Given the description of an element on the screen output the (x, y) to click on. 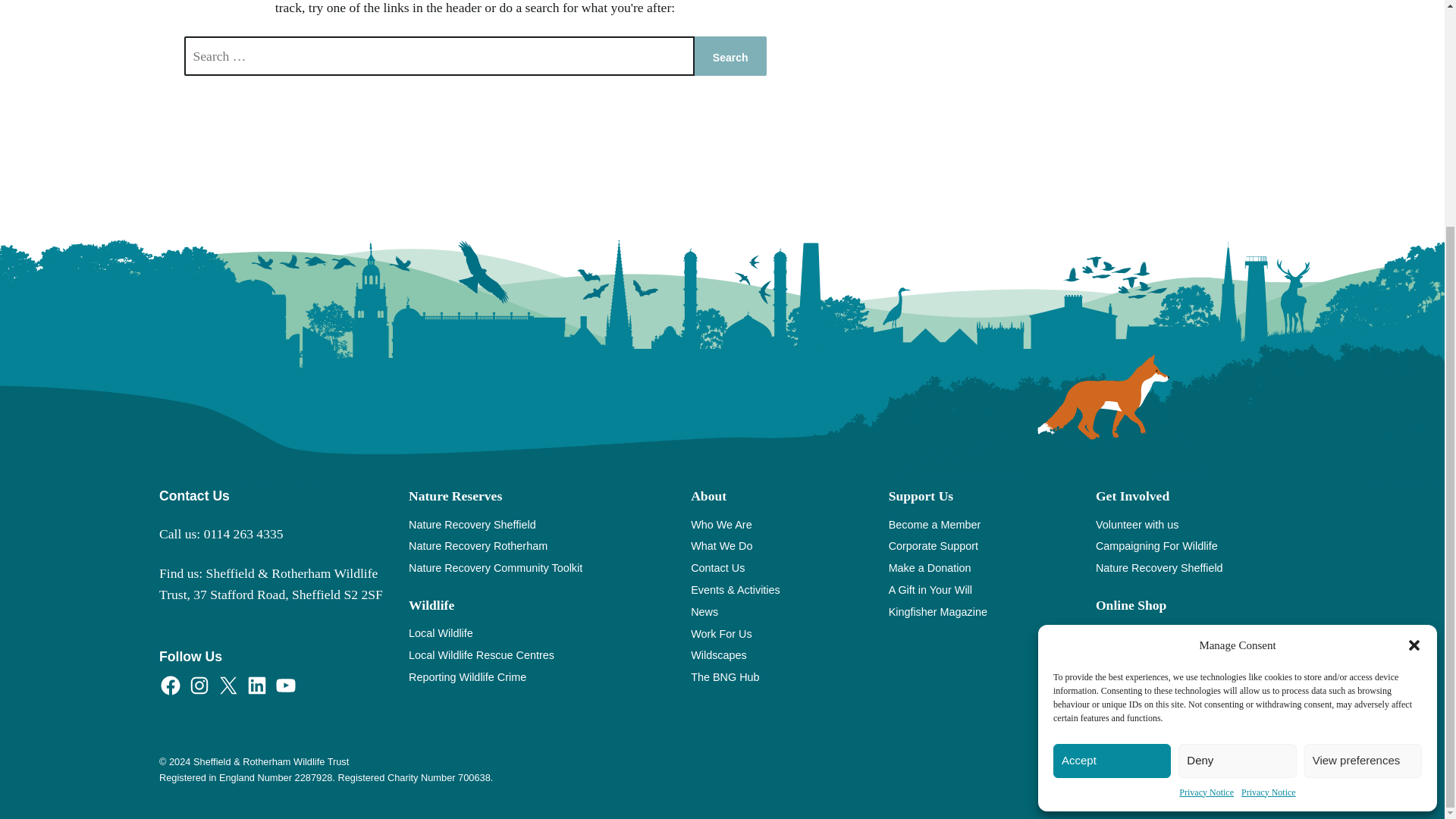
View preferences (1363, 456)
Deny (1236, 456)
Privacy Notice (1268, 488)
Accept (1111, 456)
Privacy Notice (1206, 488)
Search (730, 56)
Search (730, 56)
